Given the description of an element on the screen output the (x, y) to click on. 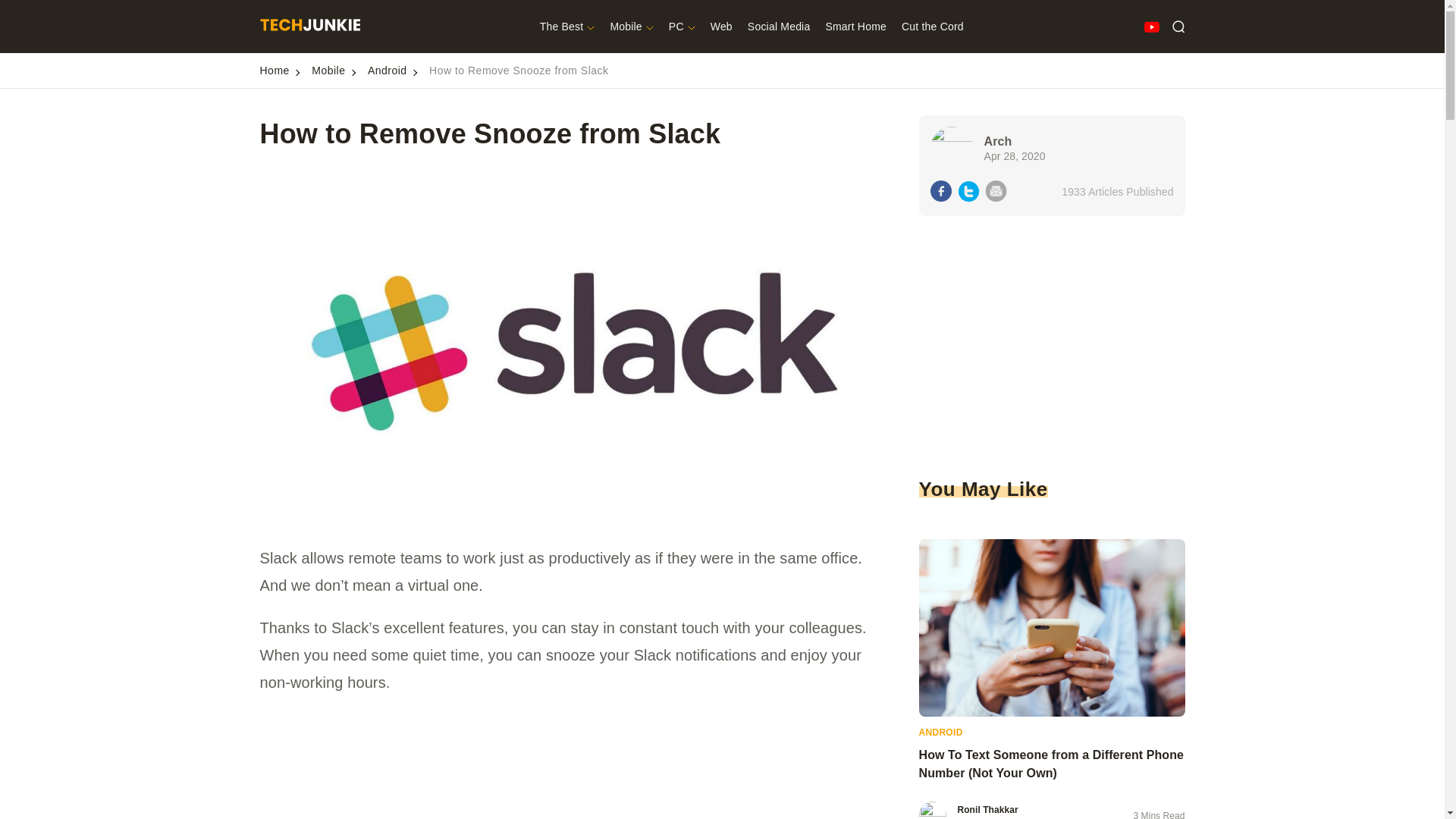
Smart Home (855, 26)
Share to Twitter (968, 192)
Social Media (779, 26)
Share to Facebook (941, 192)
The Best (567, 26)
Tech Junkie (309, 26)
Cut the Cord (932, 26)
